Given the description of an element on the screen output the (x, y) to click on. 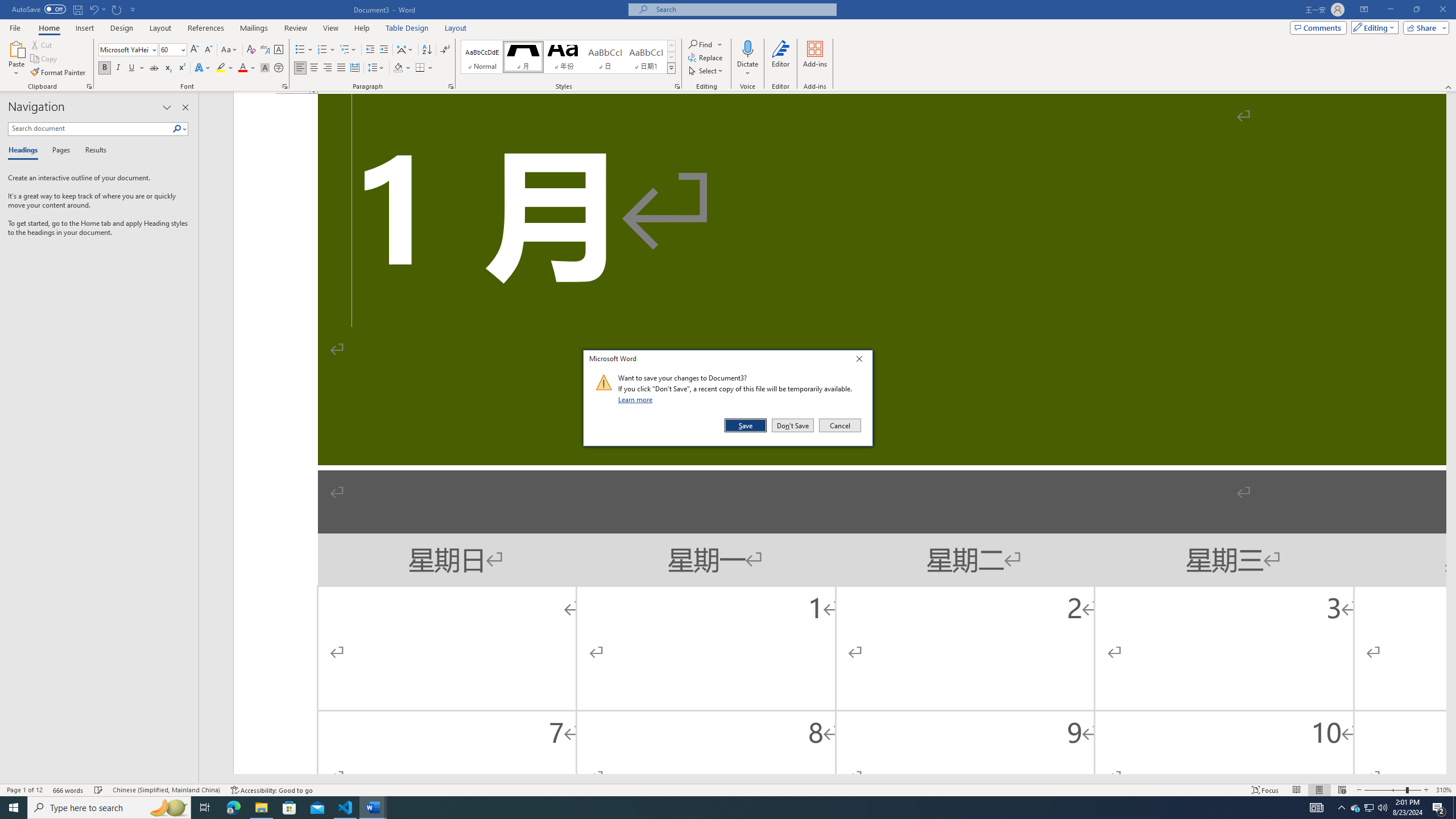
AutomationID: 4105 (1316, 807)
